Given the description of an element on the screen output the (x, y) to click on. 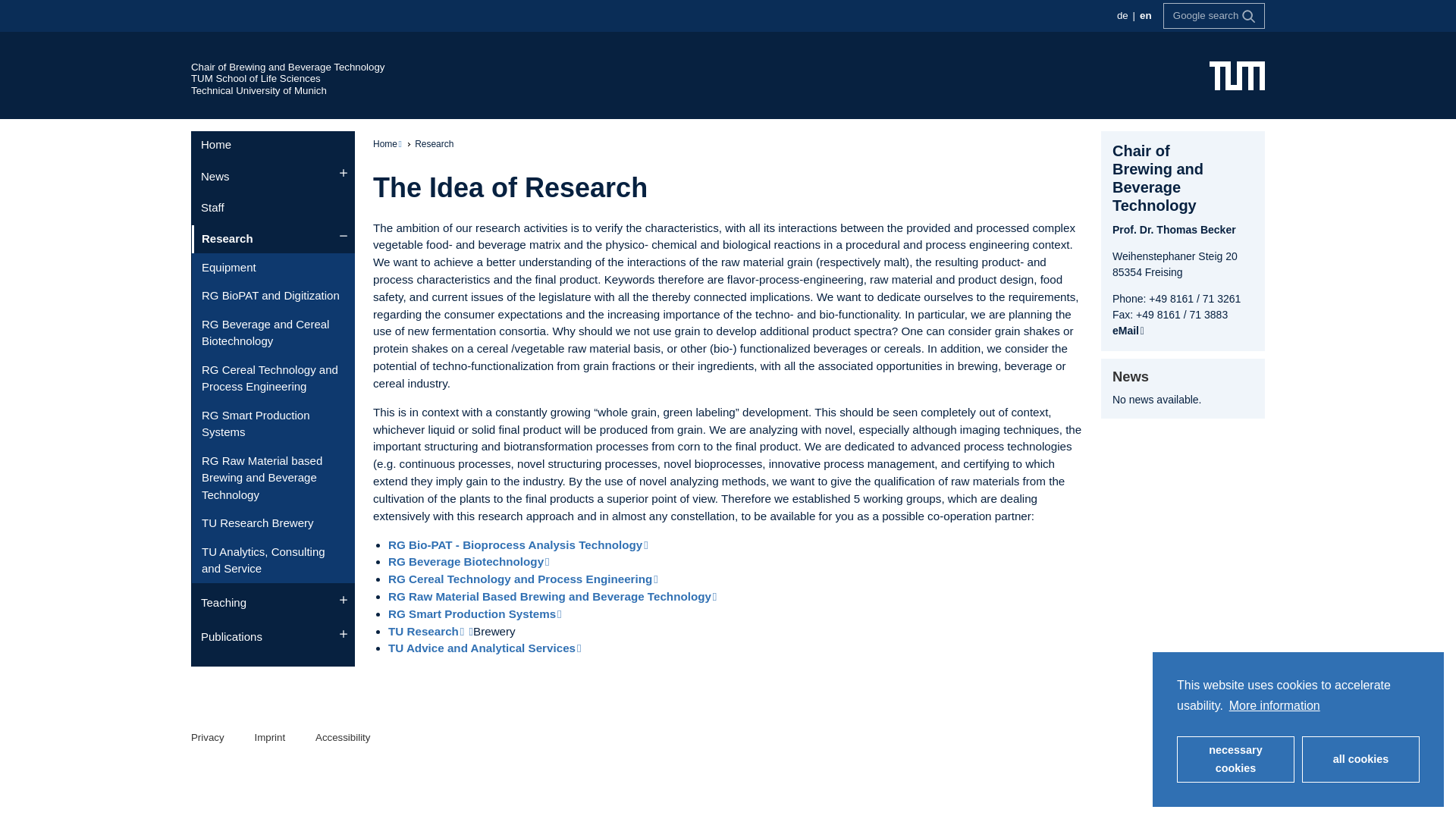
Home www.tum.de (1237, 74)
de (1123, 15)
TU Research Brewery (273, 523)
Home (272, 145)
Staff (272, 207)
RG Beverage and Cereal Biotechnology (273, 332)
News (272, 176)
Staff (272, 207)
Publications (272, 637)
Google search (1214, 15)
RG BioPAT and Digitization (273, 296)
TU Analytics, Consulting and Service (273, 560)
TUM School of Life Sciences (255, 78)
More information (1279, 705)
Research (273, 239)
